Given the description of an element on the screen output the (x, y) to click on. 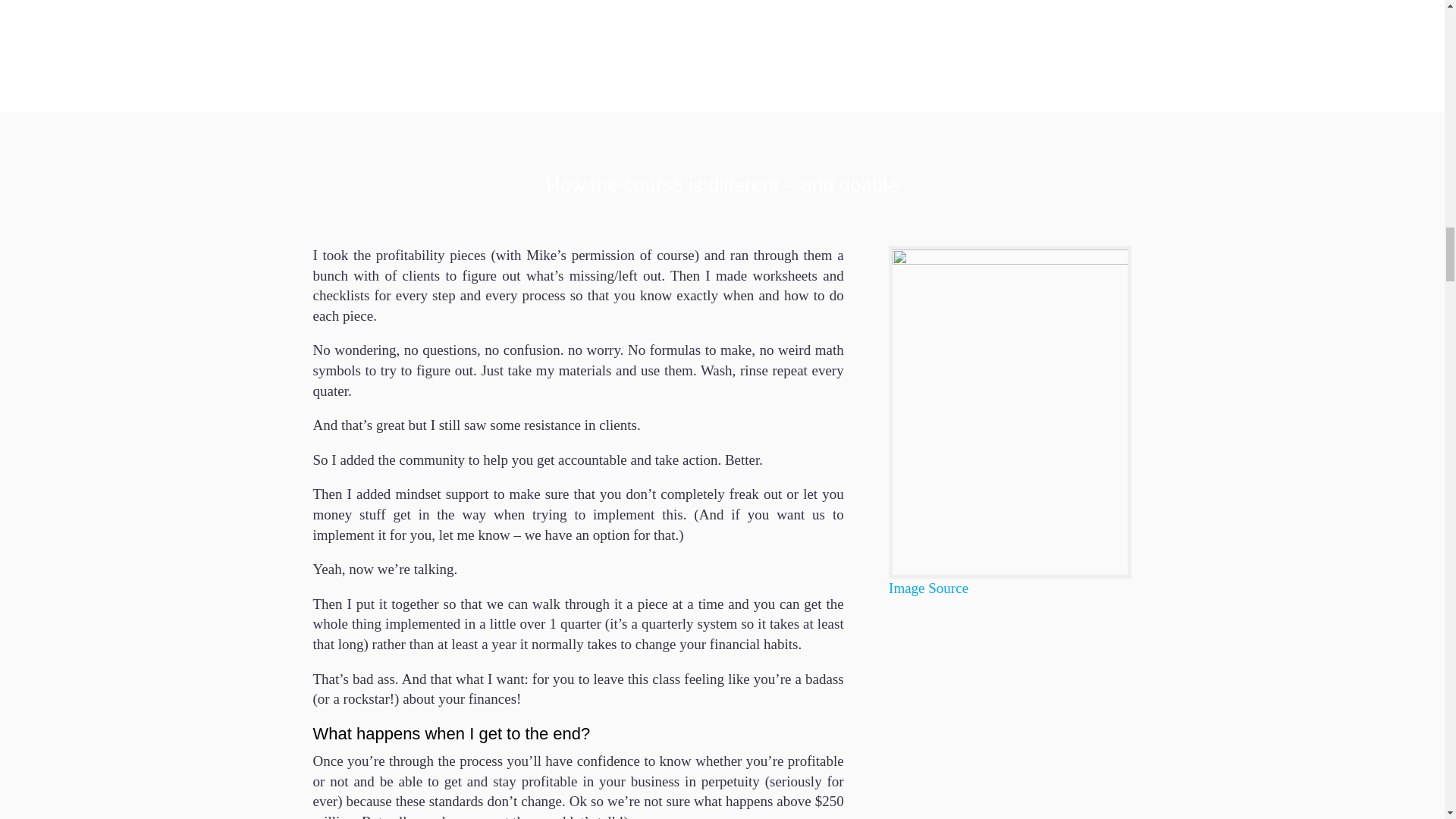
Image Source (928, 587)
Image courtesy of Freepik (928, 587)
